Given the description of an element on the screen output the (x, y) to click on. 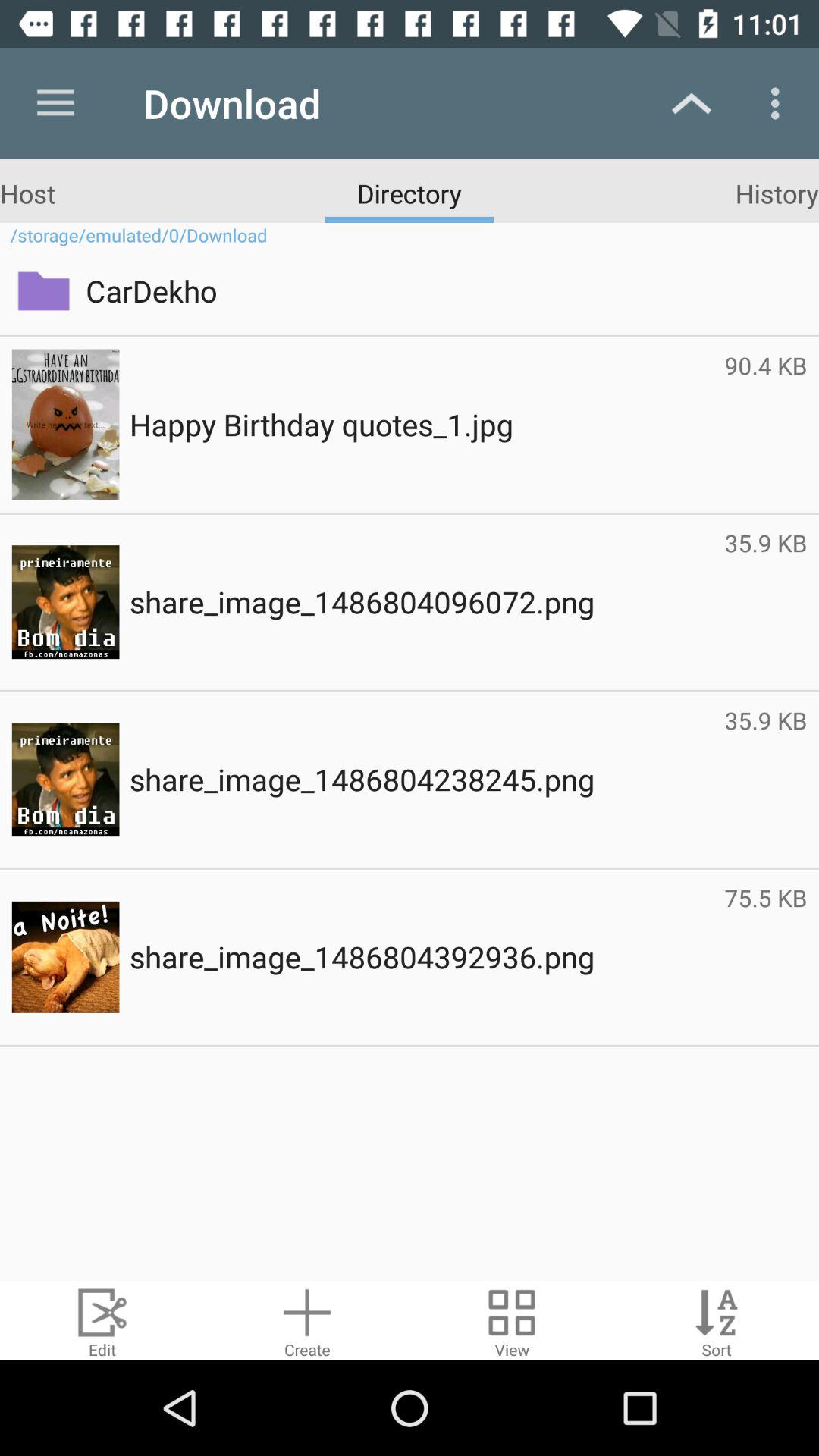
sort (716, 1320)
